Given the description of an element on the screen output the (x, y) to click on. 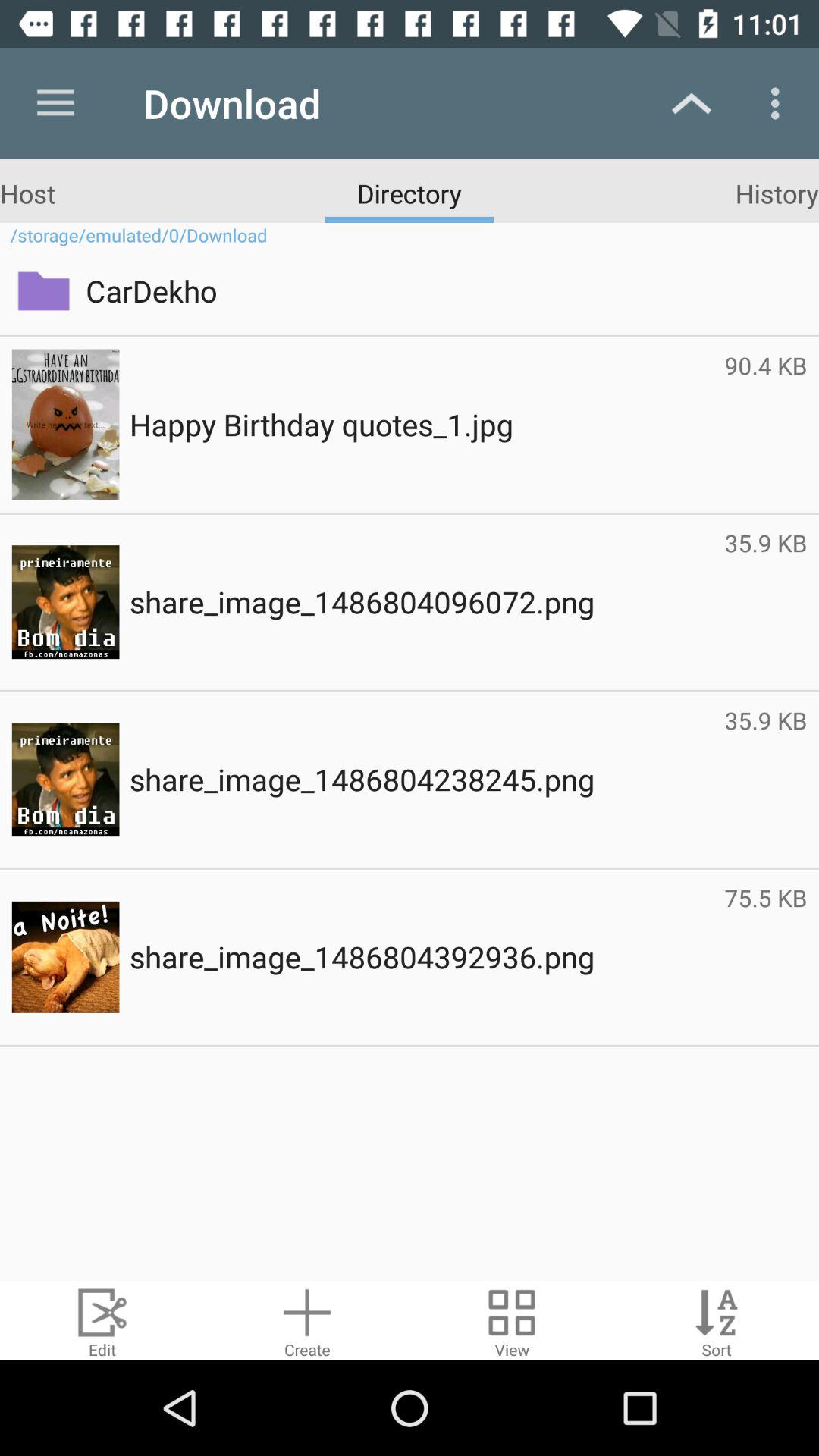
sort (716, 1320)
